Given the description of an element on the screen output the (x, y) to click on. 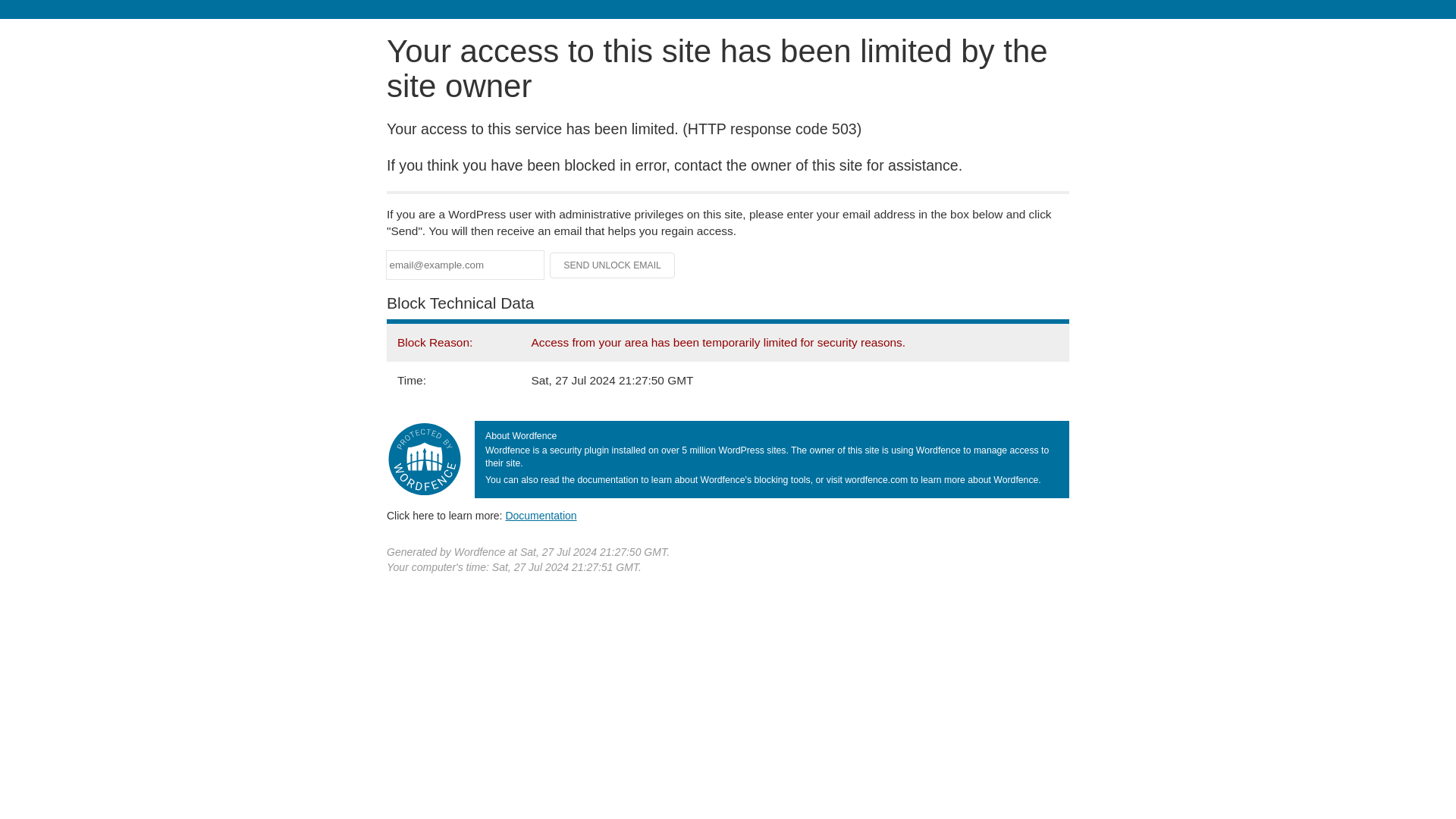
Send Unlock Email (612, 265)
Documentation (540, 515)
Send Unlock Email (612, 265)
